Given the description of an element on the screen output the (x, y) to click on. 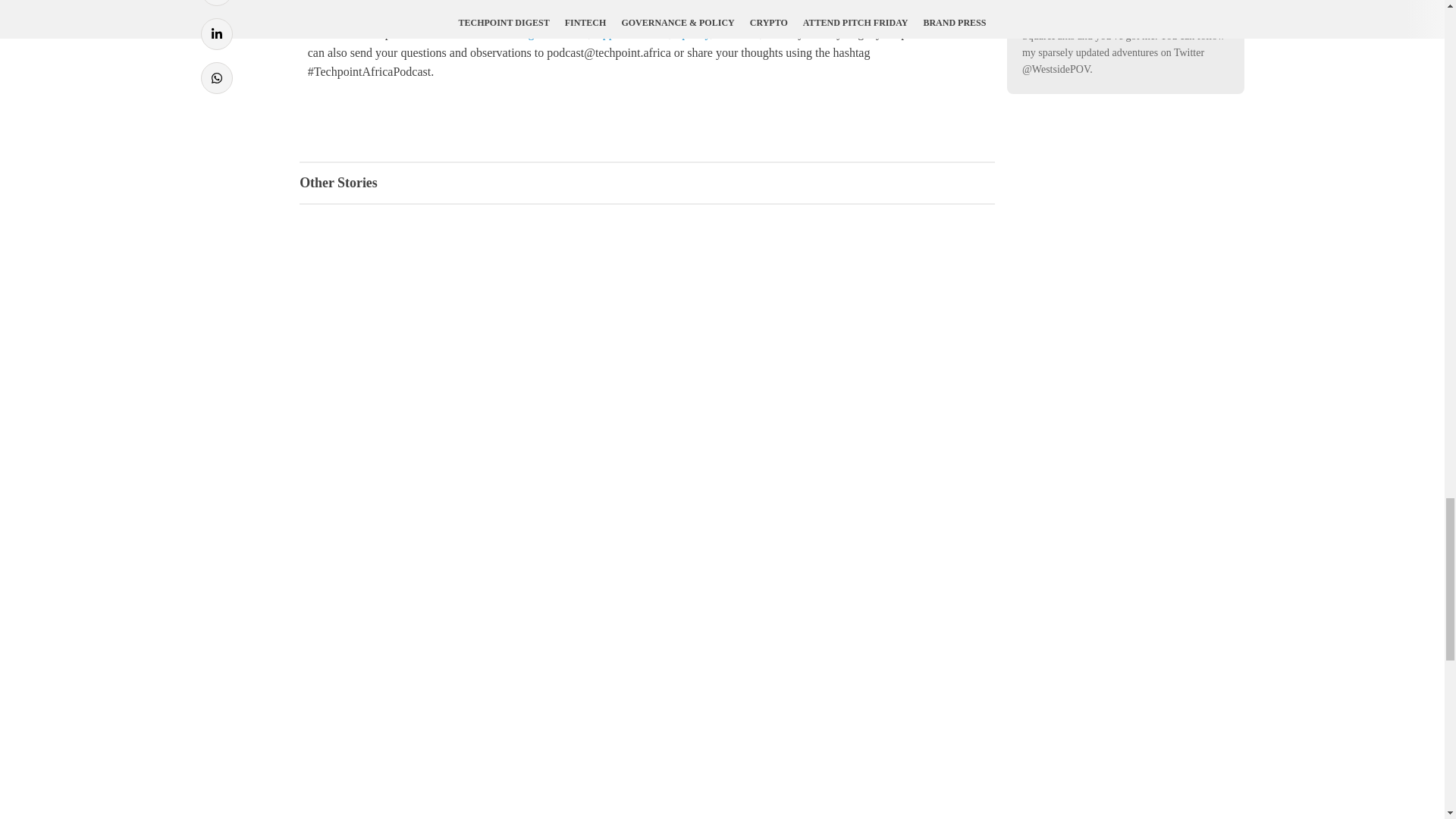
Apple Podcasts (631, 32)
Spotify (692, 32)
Google Podcasts (547, 32)
YouTube (738, 32)
